Given the description of an element on the screen output the (x, y) to click on. 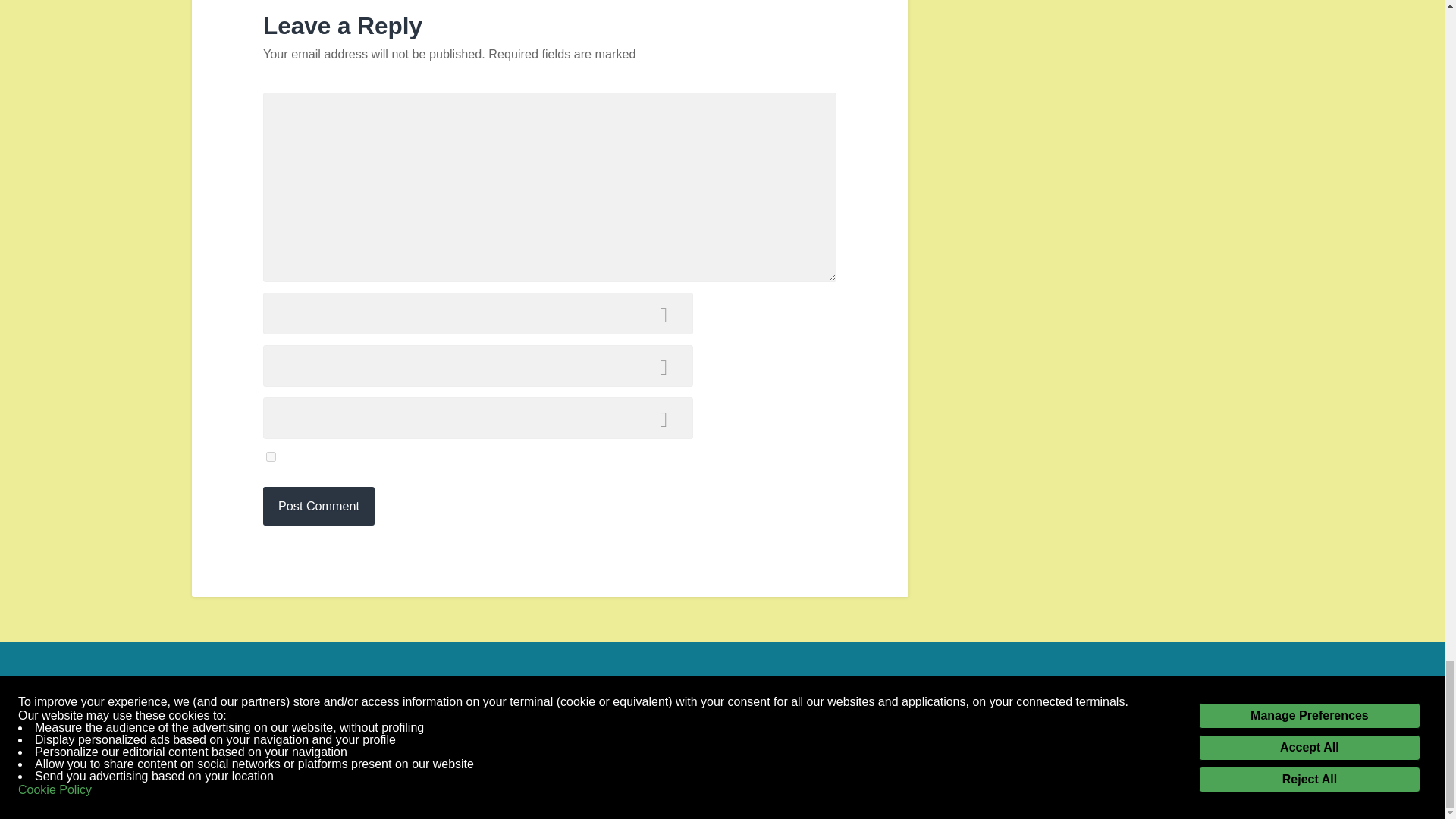
Post Comment (318, 505)
To the top (1240, 782)
Post Comment (318, 505)
yes (271, 456)
